Given the description of an element on the screen output the (x, y) to click on. 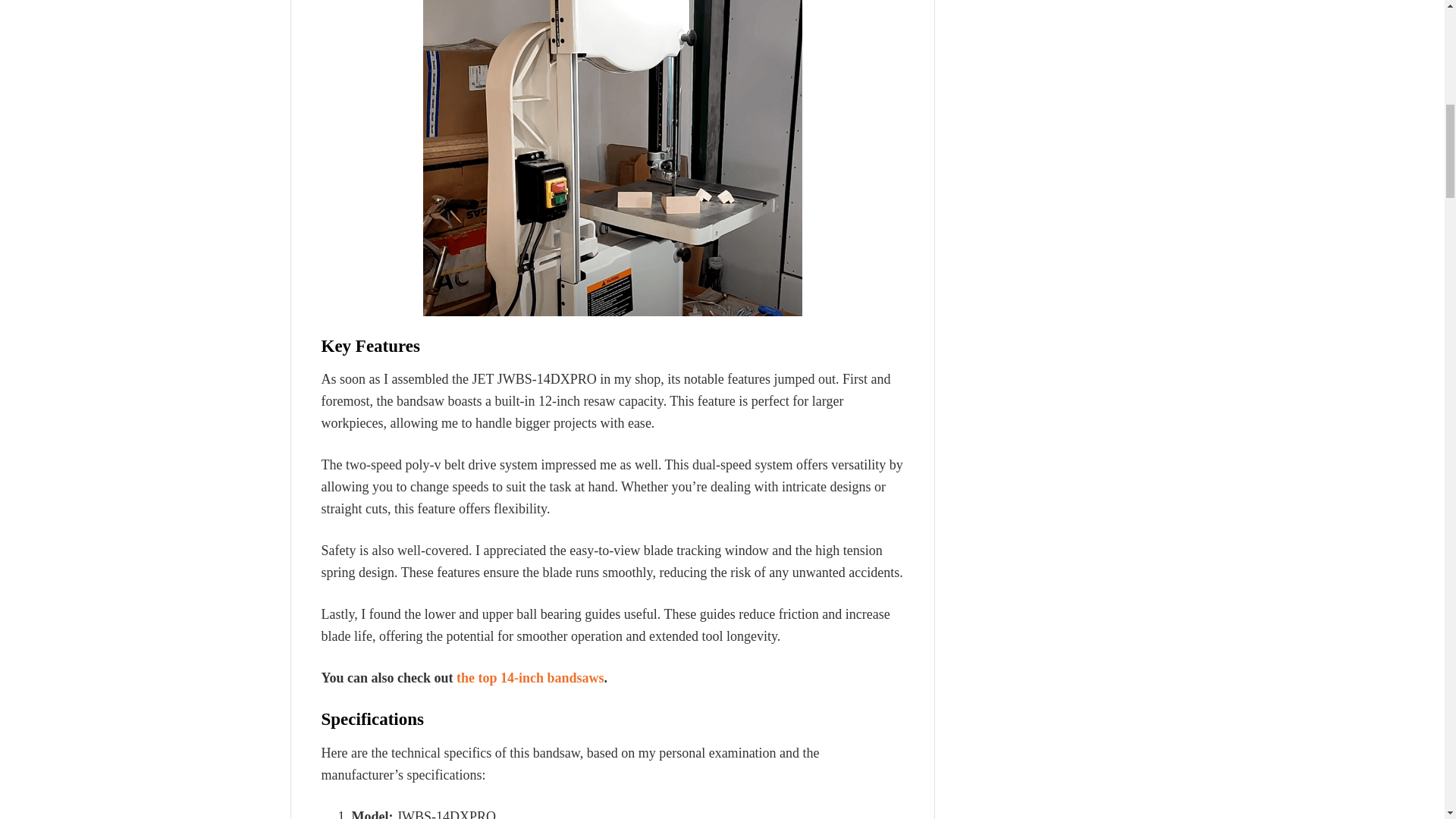
the top 14-inch bandsaws (530, 677)
